Given the description of an element on the screen output the (x, y) to click on. 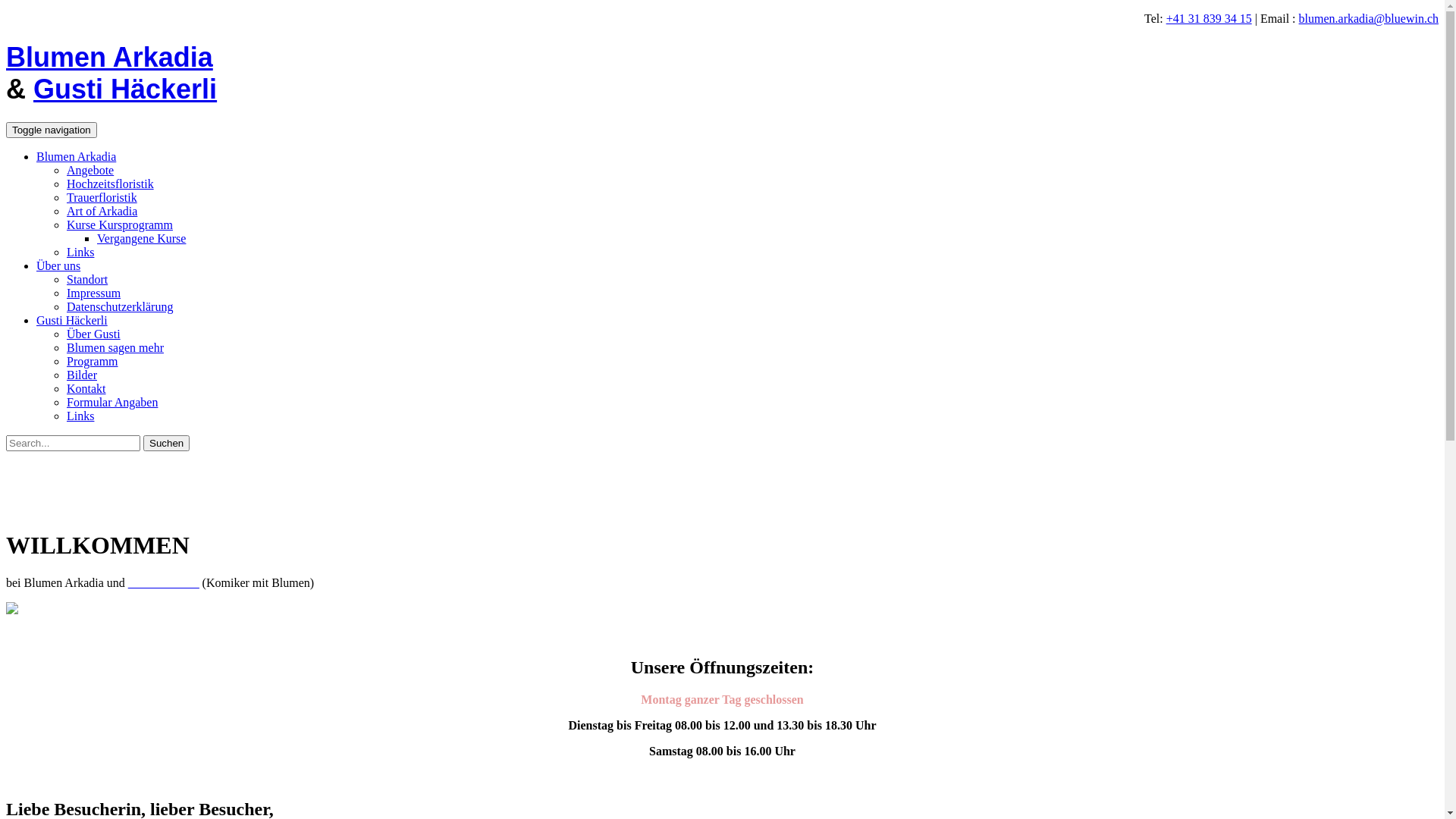
Formular Angaben Element type: text (111, 401)
Hochzeitsfloristik Element type: text (109, 183)
+41 31 839 34 15 Element type: text (1209, 18)
Angebote Element type: text (89, 169)
Blumen sagen mehr Element type: text (114, 347)
blumen.arkadia@bluewin.ch Element type: text (1368, 18)
Links Element type: text (80, 415)
Standort Element type: text (86, 279)
Art of Arkadia Element type: text (101, 210)
Kurse Kursprogramm Element type: text (119, 224)
Impressum Element type: text (93, 292)
Toggle navigation Element type: text (51, 130)
Links Element type: text (80, 251)
Kontakt Element type: text (86, 388)
Bilder Element type: text (81, 374)
Blumen Arkadia Element type: text (109, 56)
Suchen Element type: text (166, 443)
Vergangene Kurse Element type: text (141, 238)
Trauerfloristik Element type: text (101, 197)
Programm Element type: text (92, 360)
Blumen Arkadia Element type: text (76, 156)
